Given the description of an element on the screen output the (x, y) to click on. 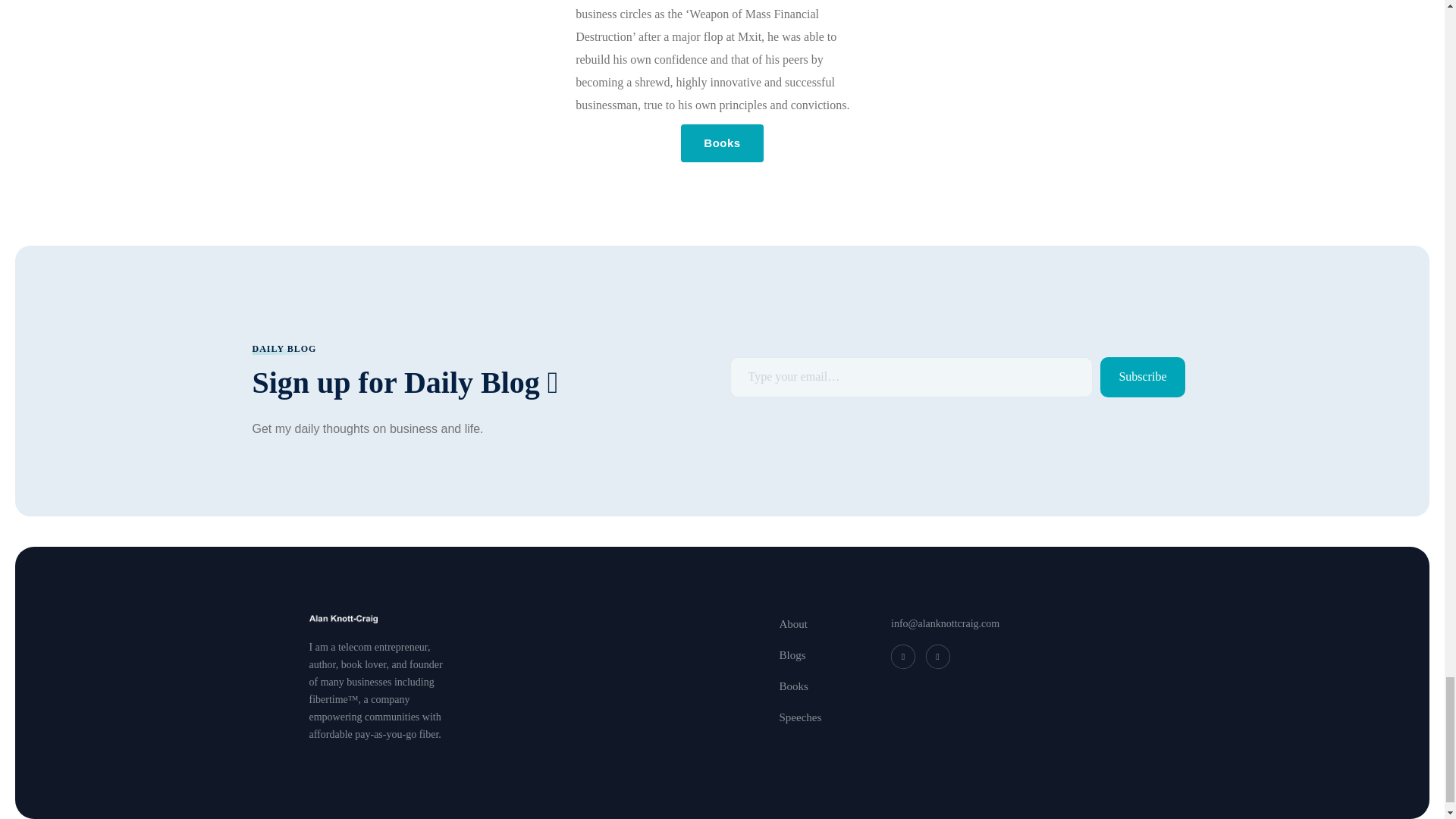
Subscribe (1142, 377)
Books (721, 143)
Speeches (800, 717)
About (793, 624)
Please fill in this field. (911, 377)
Books (793, 686)
Blogs (792, 655)
